Given the description of an element on the screen output the (x, y) to click on. 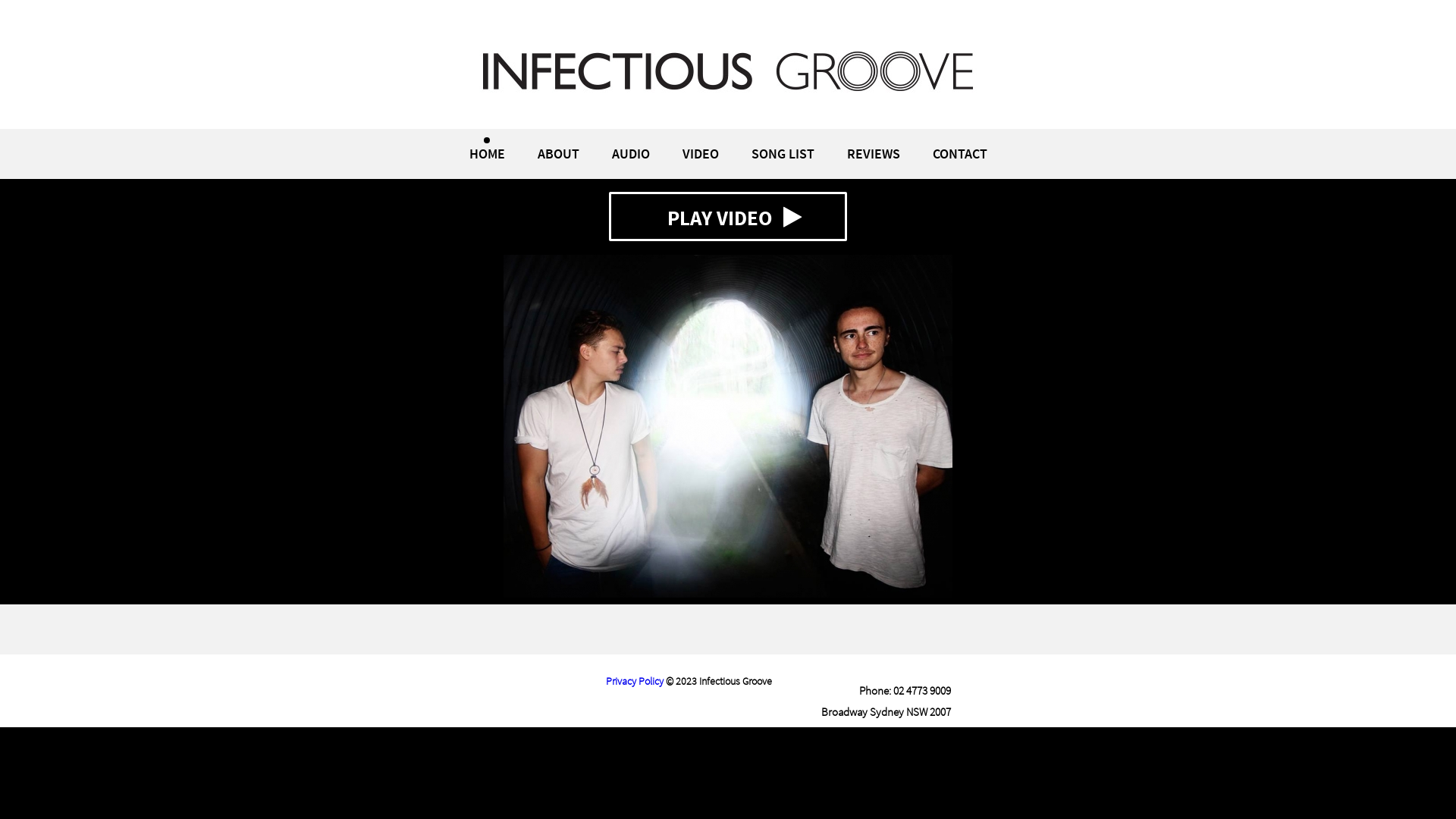
ABOUT Element type: text (557, 153)
SONG LIST Element type: text (781, 153)
REVIEWS Element type: text (872, 153)
Privacy Policy Element type: text (634, 680)
AUDIO Element type: text (630, 153)
VIDEO Element type: text (700, 153)
PLAY VIDEO Element type: text (727, 216)
CONTACT Element type: text (959, 153)
HOME Element type: text (486, 153)
